Given the description of an element on the screen output the (x, y) to click on. 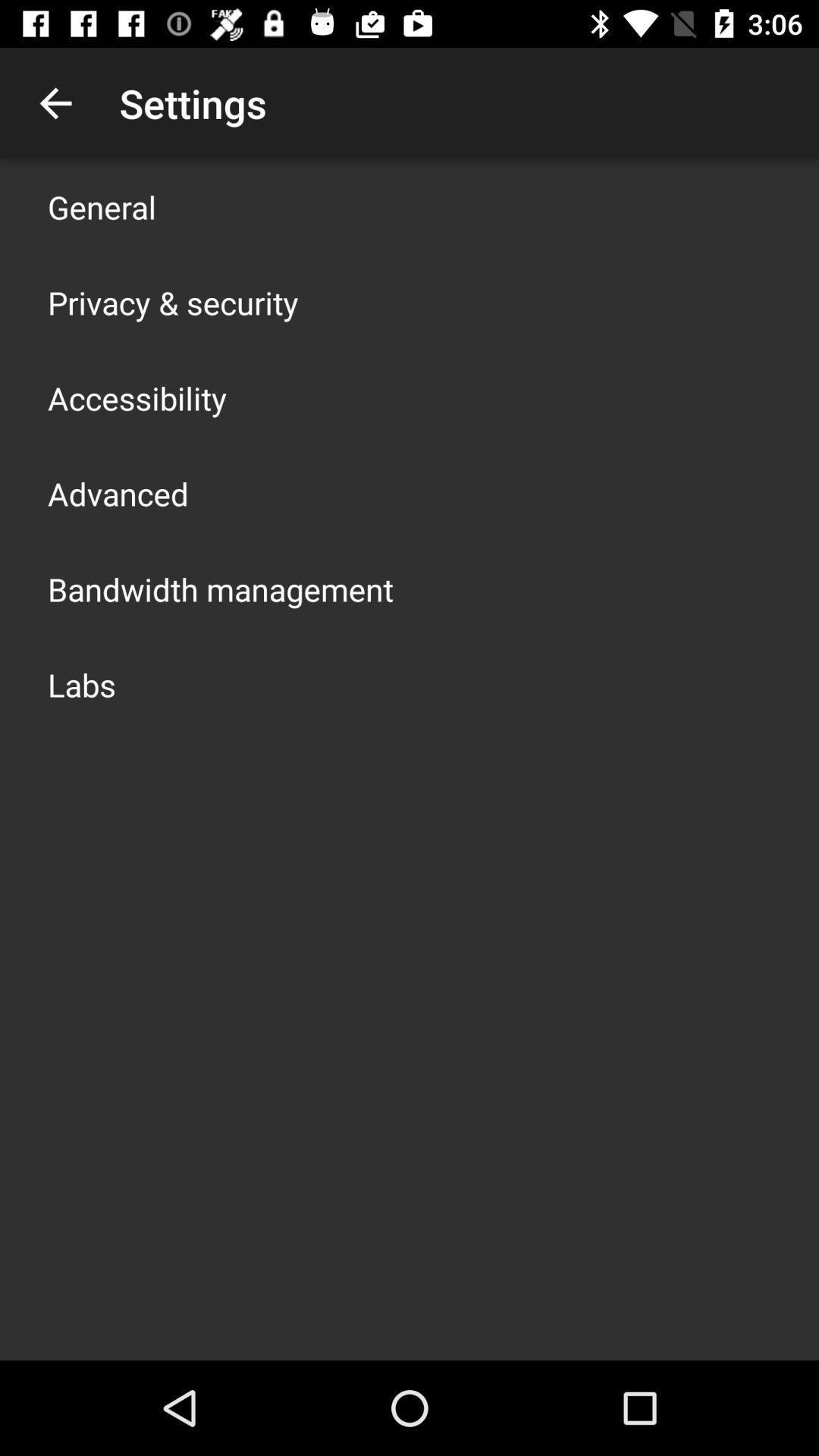
choose the app above the bandwidth management item (117, 493)
